Given the description of an element on the screen output the (x, y) to click on. 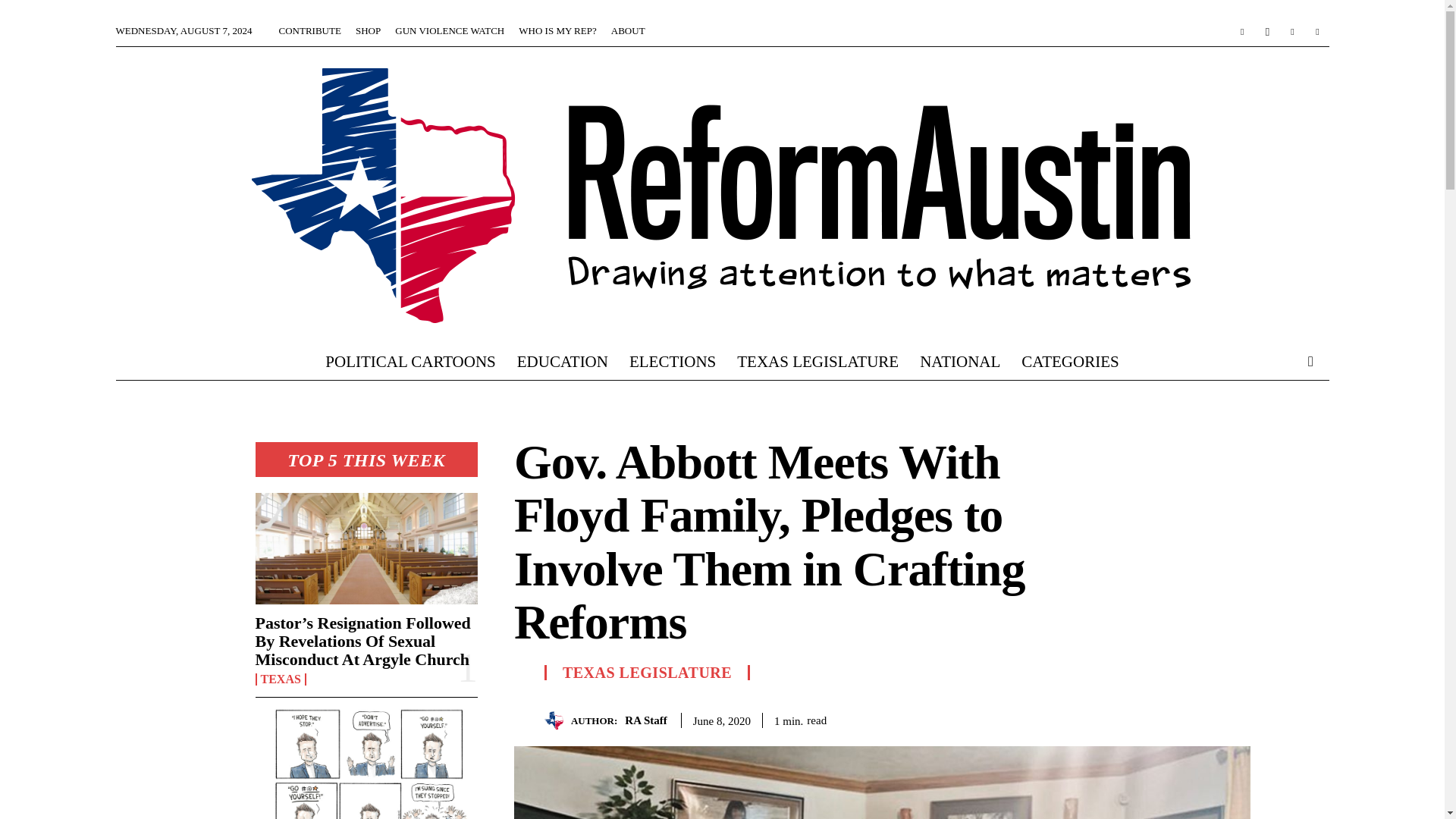
Elon (365, 764)
WHO IS MY REP? (556, 30)
CONTRIBUTE (309, 30)
GUN VIOLENCE WATCH (448, 30)
SHOP (367, 30)
ABOUT (628, 30)
